Given the description of an element on the screen output the (x, y) to click on. 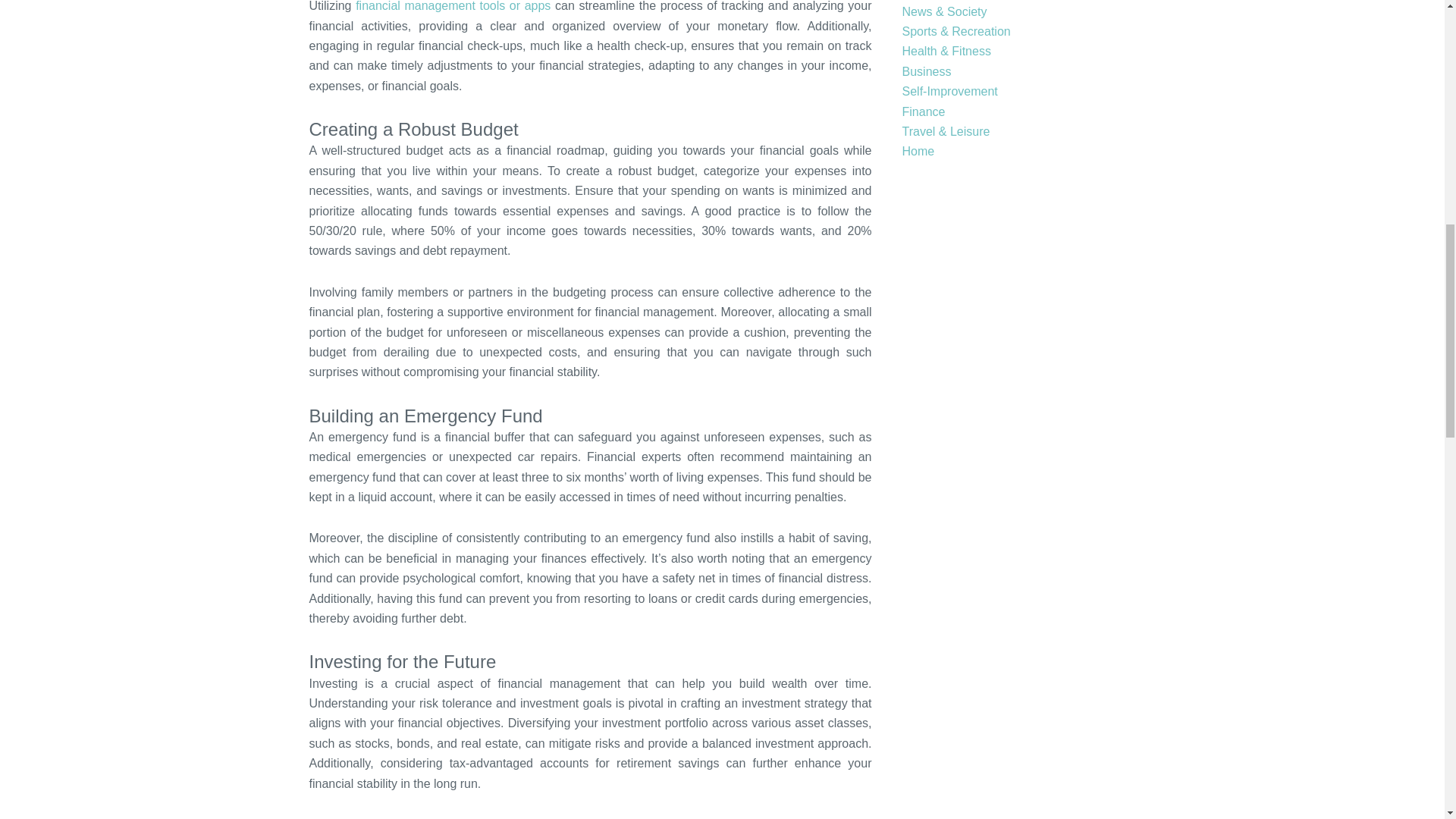
financial management tools or apps (452, 6)
Finance (923, 111)
Self-Improvement (949, 91)
Business (927, 71)
Advertisement (1022, 279)
